Given the description of an element on the screen output the (x, y) to click on. 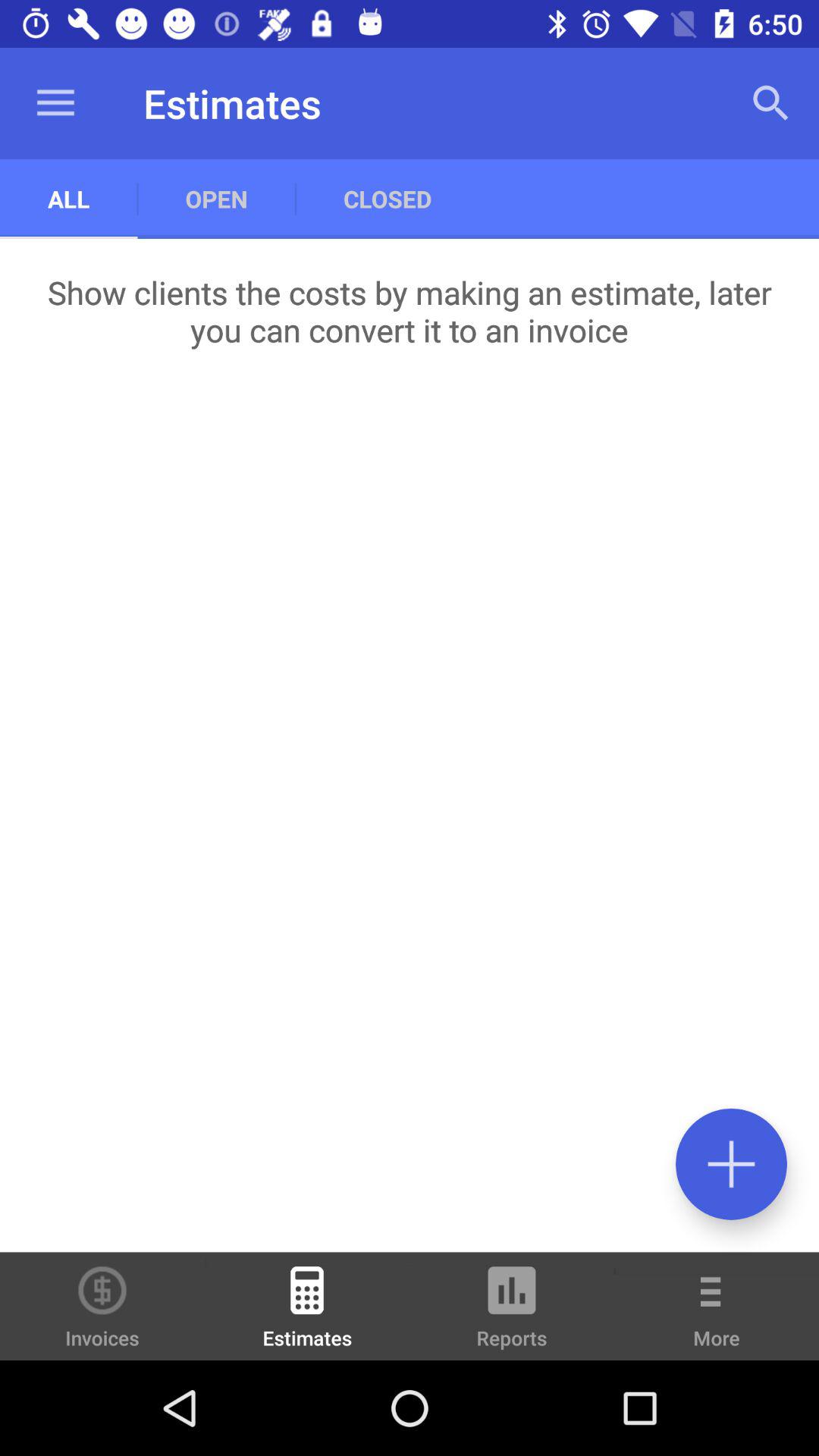
download (731, 1163)
